Given the description of an element on the screen output the (x, y) to click on. 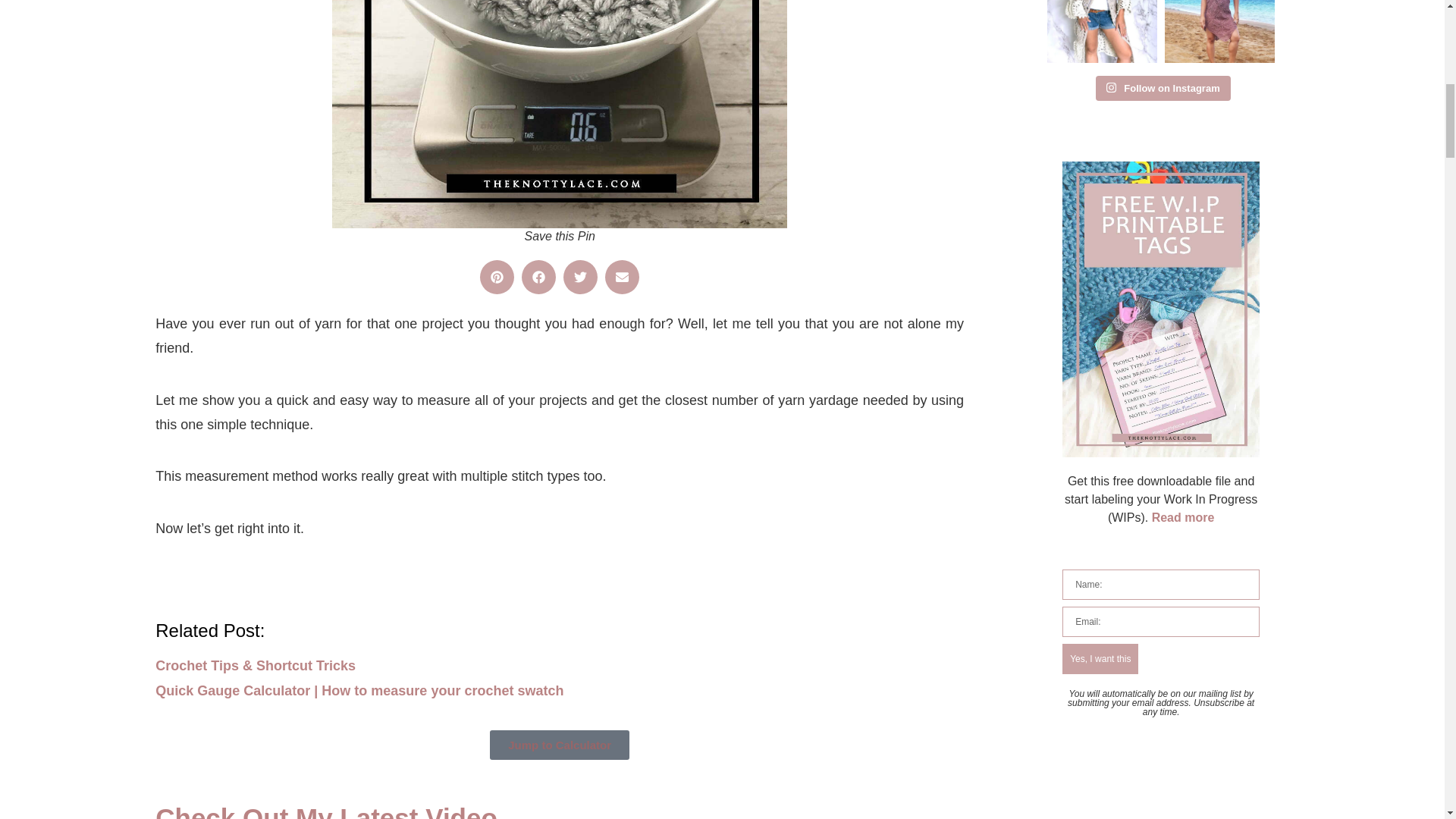
Jump to Calculator (558, 745)
